Given the description of an element on the screen output the (x, y) to click on. 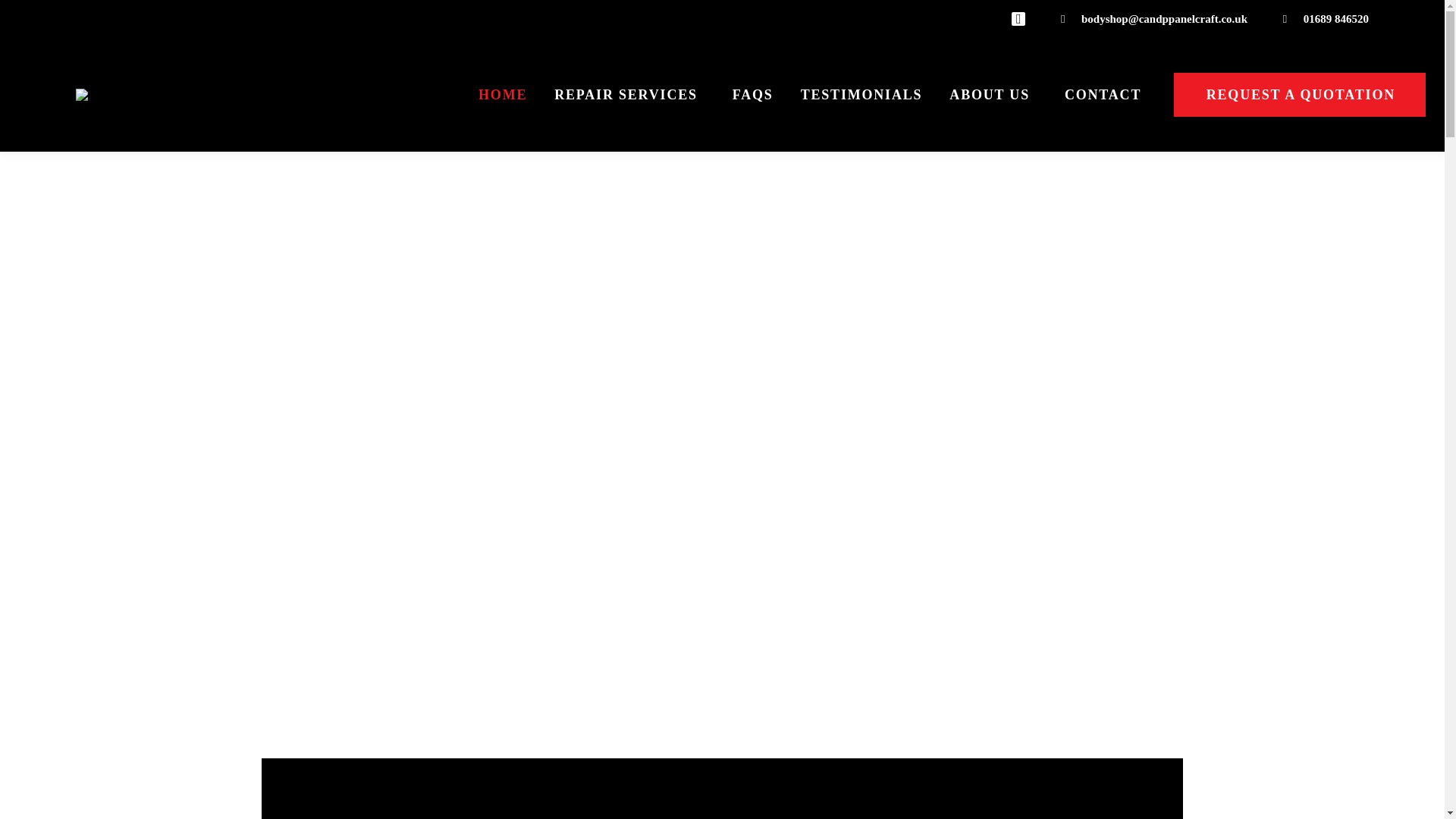
REPAIR SERVICES (629, 94)
01689 846520 (1323, 18)
FAQS (752, 94)
TESTIMONIALS (861, 94)
REQUEST A QUOTATION (1299, 94)
Facebook page opens in new window (1018, 18)
HOME (502, 94)
CONTACT (1102, 94)
ABOUT US (993, 94)
Facebook page opens in new window (1018, 18)
